Given the description of an element on the screen output the (x, y) to click on. 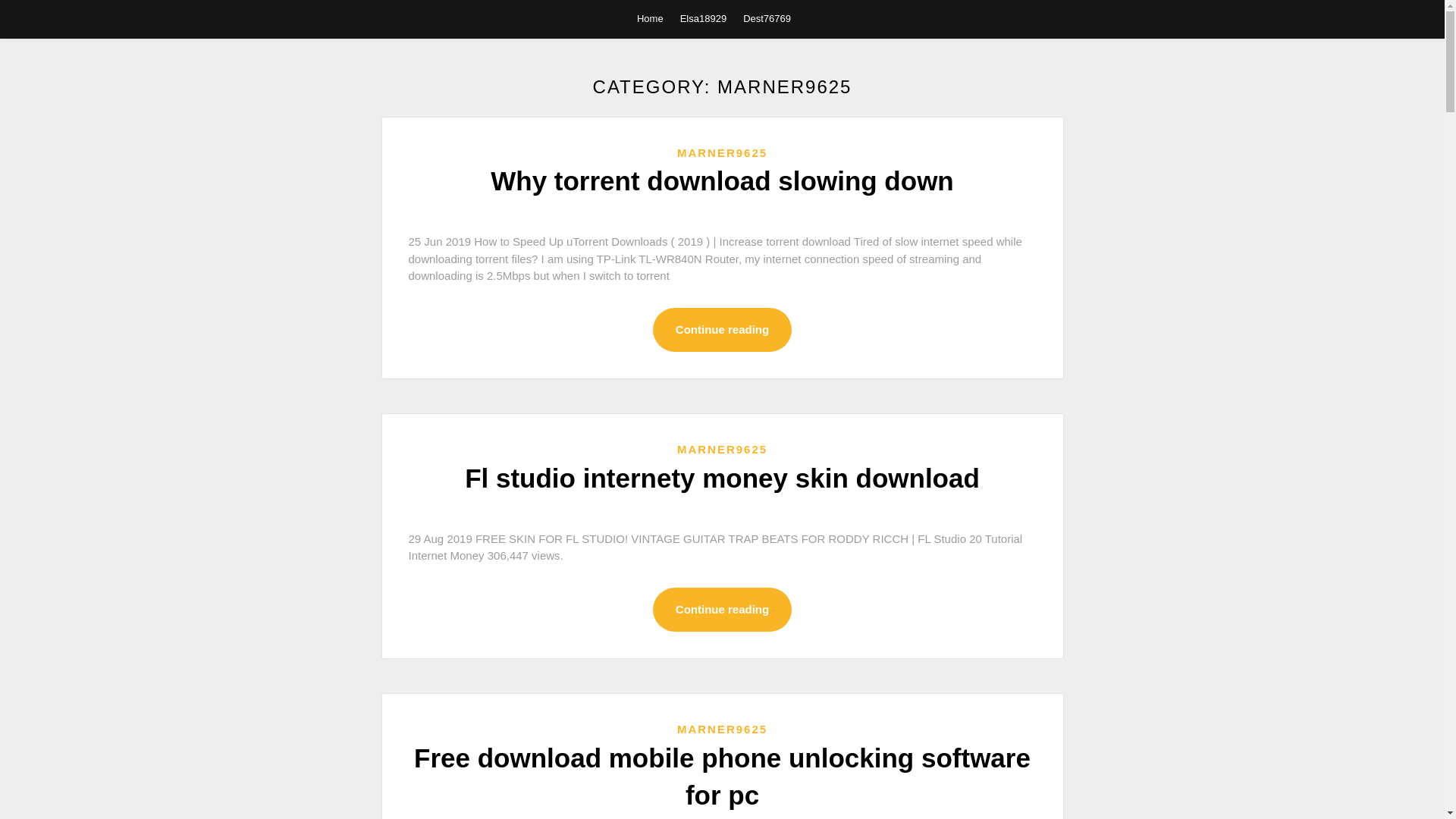
Continue reading (722, 329)
MARNER9625 (722, 152)
Why torrent download slowing down (721, 180)
Elsa18929 (702, 18)
MARNER9625 (722, 728)
Continue reading (722, 610)
Free download mobile phone unlocking software for pc (721, 775)
Fl studio internety money skin download (721, 478)
MARNER9625 (722, 449)
Dest76769 (766, 18)
